Given the description of an element on the screen output the (x, y) to click on. 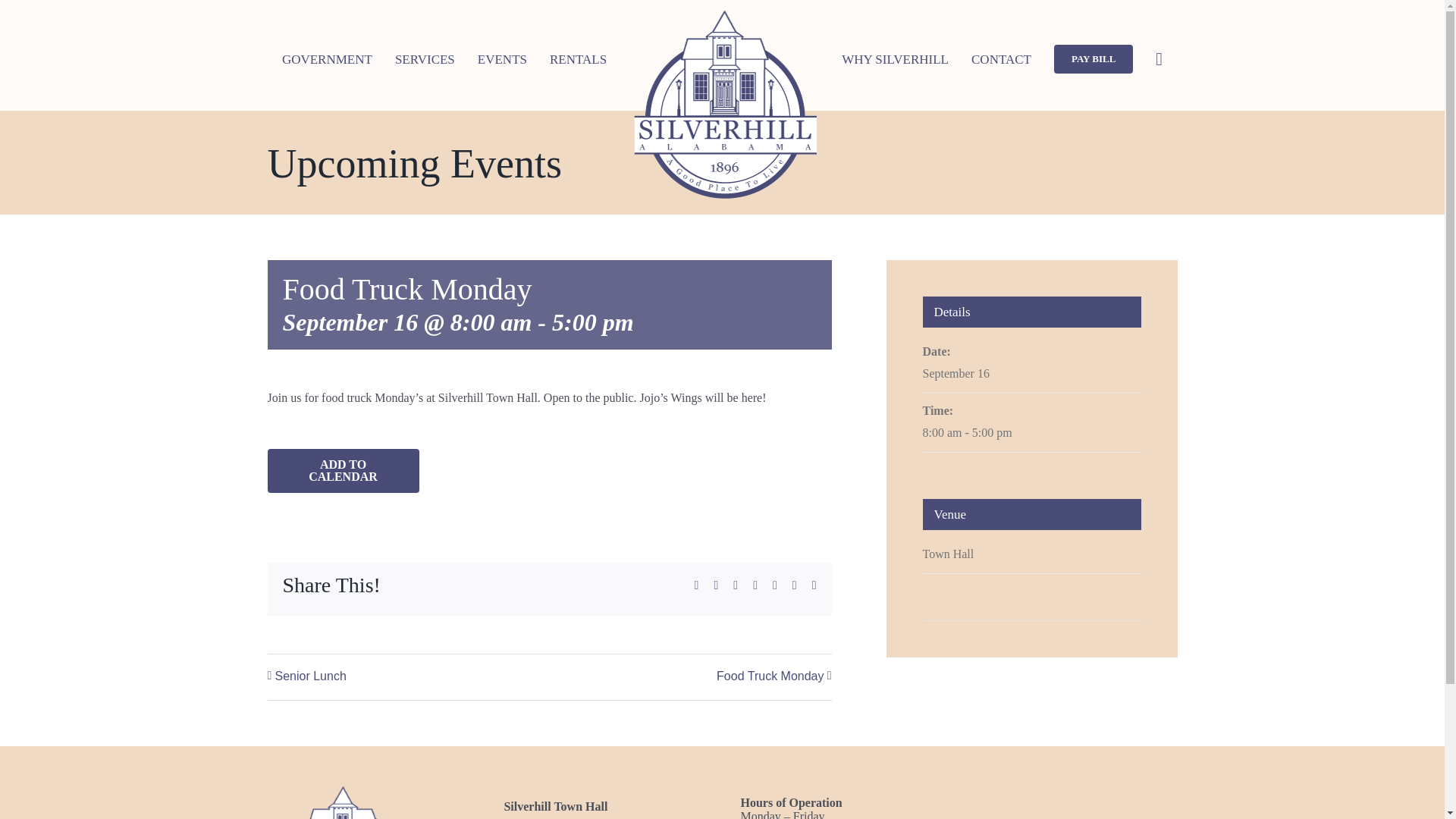
WHY SILVERHILL (895, 59)
GOVERNMENT (327, 59)
Town of Silverhill Alabama (342, 801)
2024-09-16 (954, 373)
PAY BILL (1093, 59)
2024-09-16 (1030, 433)
